Given the description of an element on the screen output the (x, y) to click on. 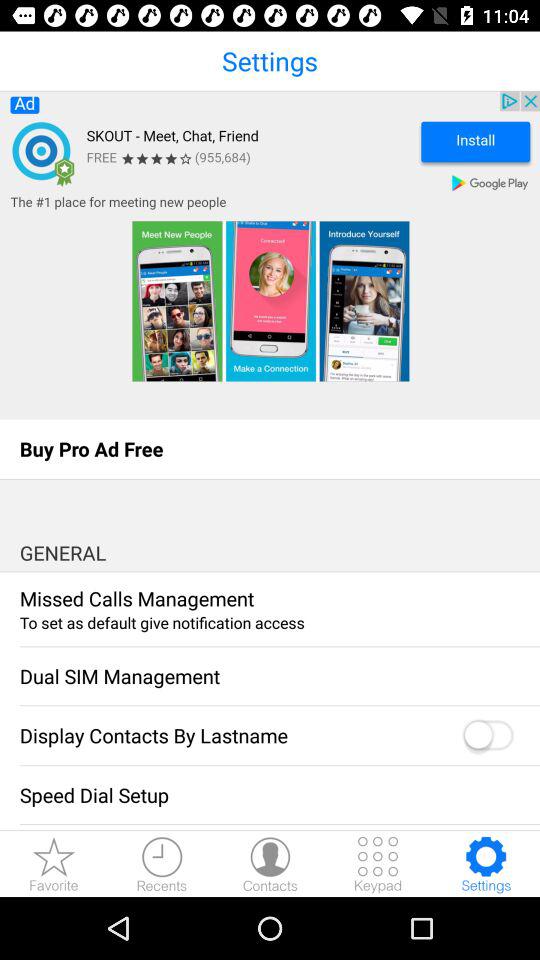
view settings (485, 864)
